Given the description of an element on the screen output the (x, y) to click on. 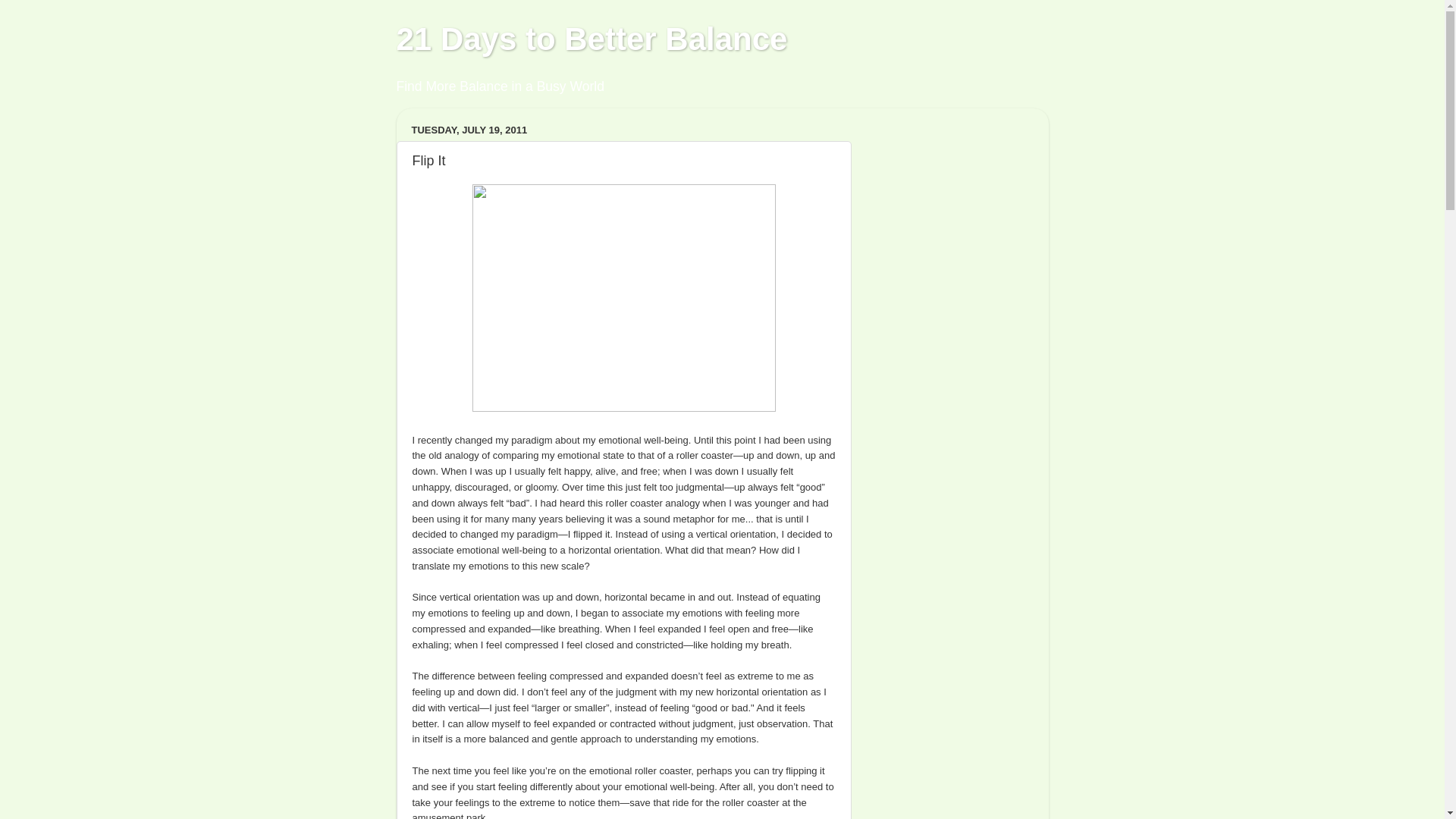
21 Days to Better Balance Element type: text (591, 38)
